Given the description of an element on the screen output the (x, y) to click on. 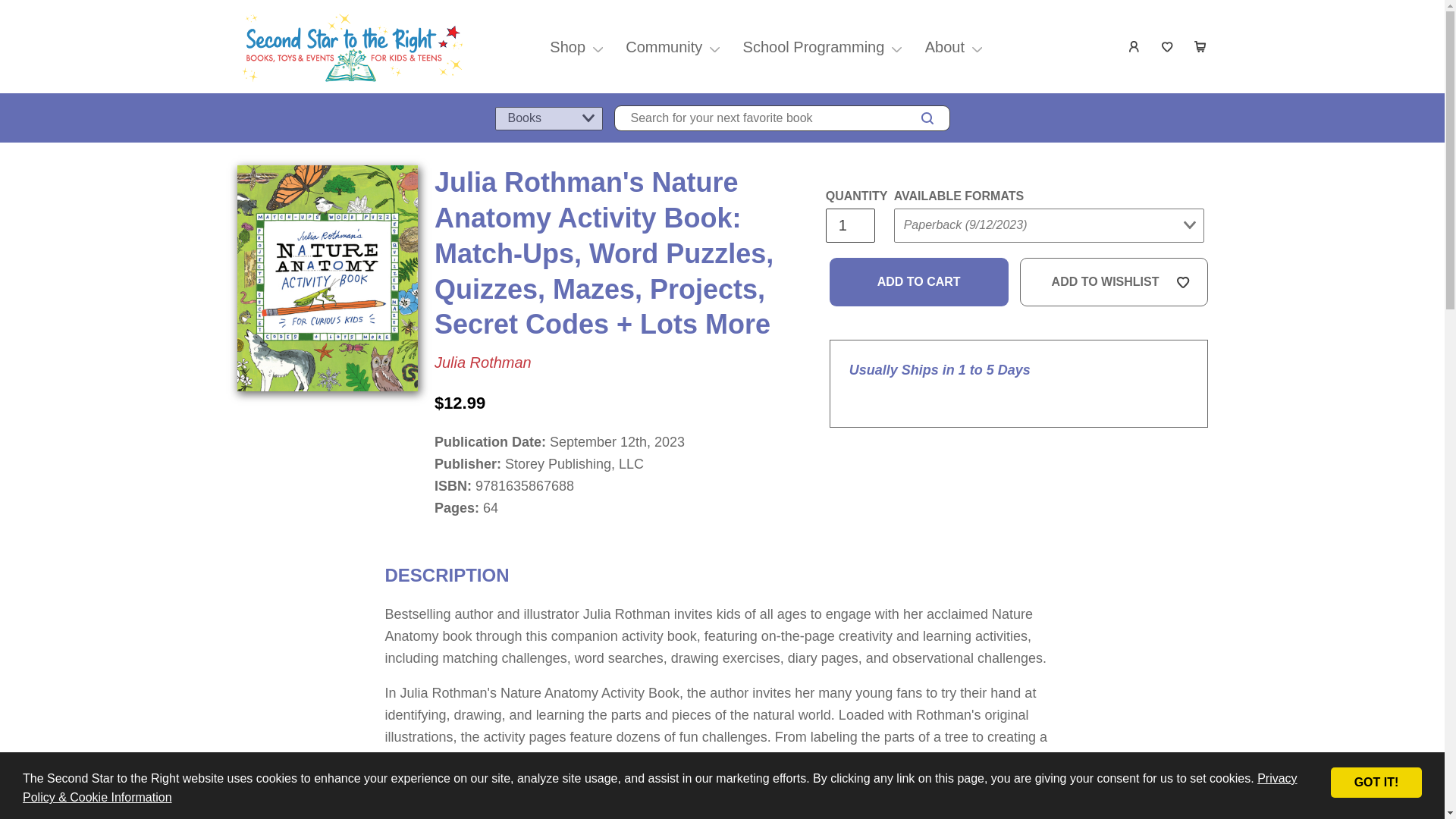
Log in (1134, 46)
Community (663, 47)
Cart (1201, 46)
Add to cart (919, 281)
School Programming (814, 47)
1 (850, 225)
Wishlist (1168, 46)
